Given the description of an element on the screen output the (x, y) to click on. 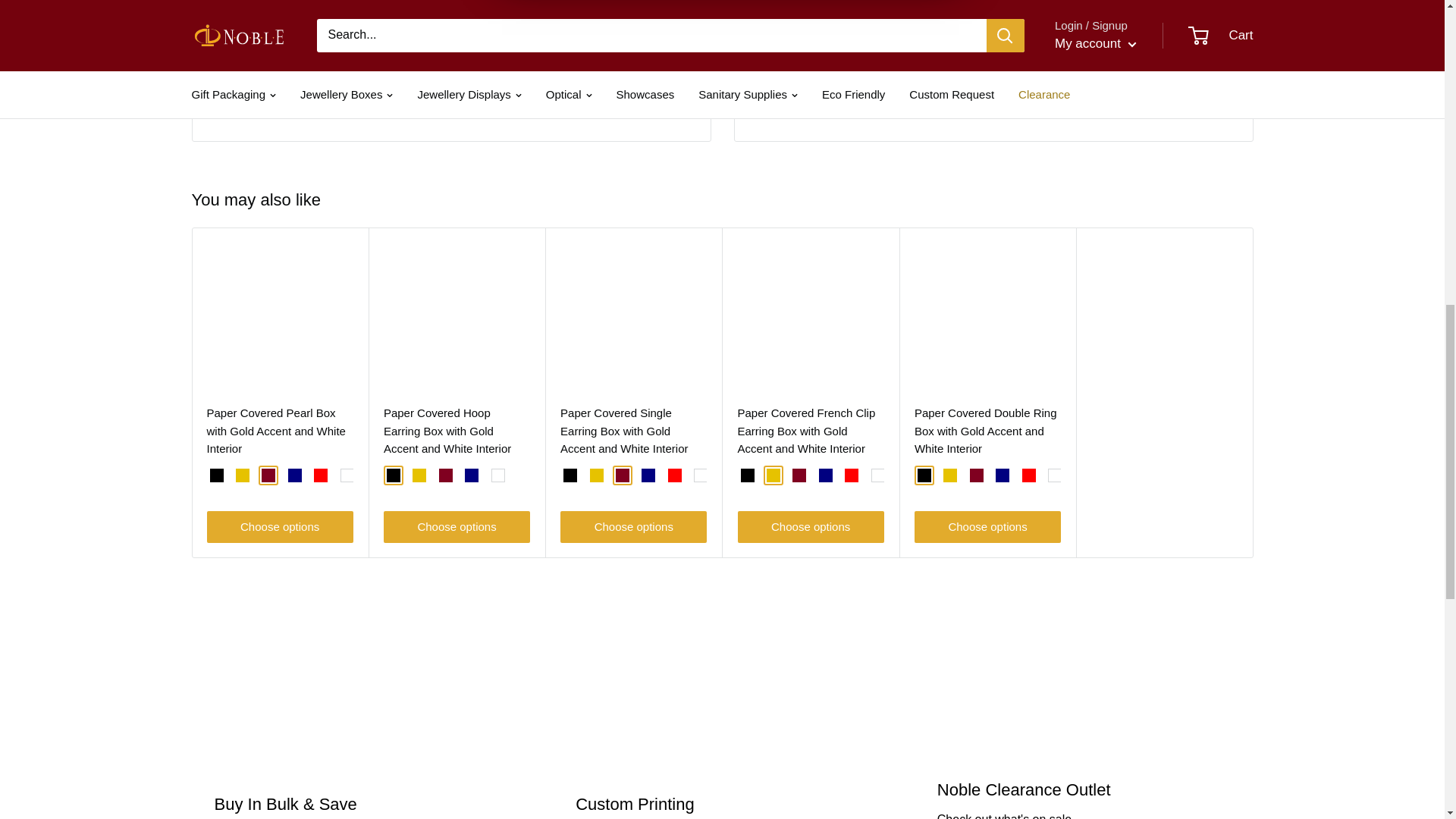
Black (569, 475)
Gold (596, 475)
White (346, 475)
Gold (241, 475)
Burgundy (445, 475)
Black (393, 475)
Black (215, 475)
Navy Blue (471, 475)
Red (320, 475)
Navy Blue (294, 475)
White (498, 475)
Burgundy (268, 475)
